Given the description of an element on the screen output the (x, y) to click on. 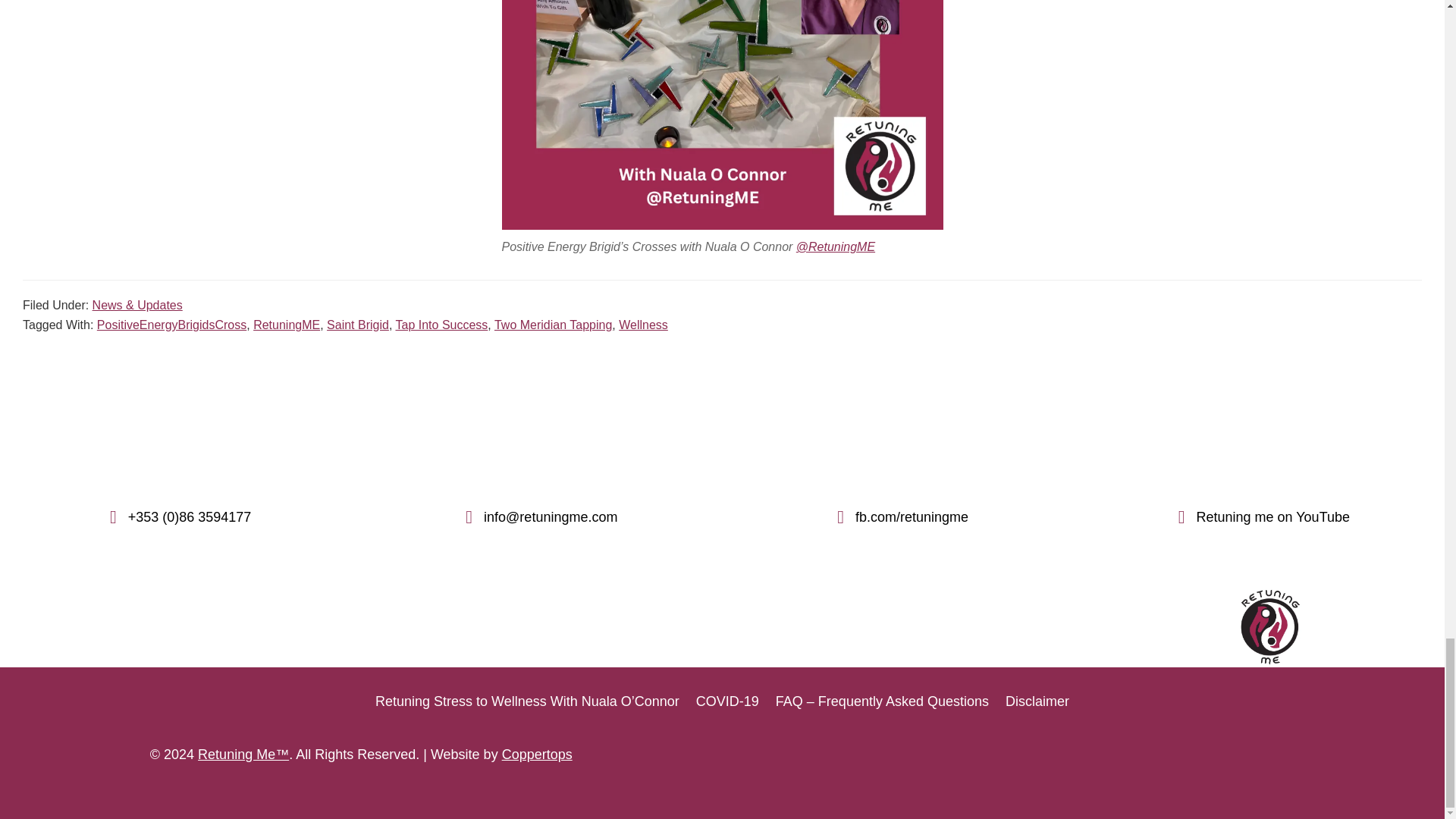
Retuning Me Logo Recoloured (1269, 626)
